Given the description of an element on the screen output the (x, y) to click on. 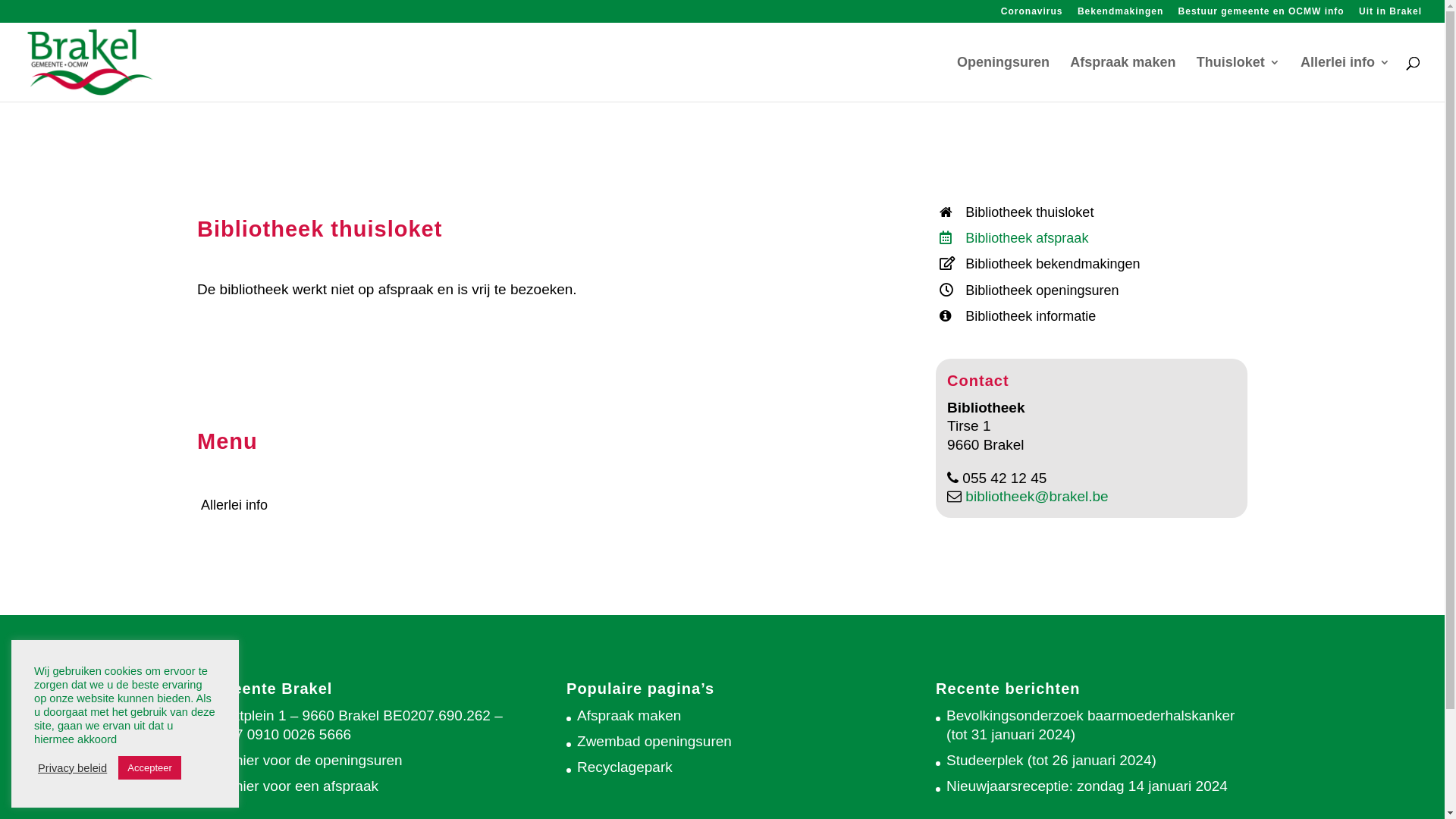
Bibliotheek informatie Element type: text (1091, 316)
Studeerplek (tot 26 januari 2024) Element type: text (1051, 760)
Bibliotheek bekendmakingen Element type: text (1091, 263)
Privacy beleid Element type: text (71, 768)
Allerlei info Element type: text (1345, 78)
Coronavirus Element type: text (1032, 14)
Thuisloket Element type: text (1238, 78)
Bibliotheek thuisloket Element type: text (1091, 212)
Klik hier voor de openingsuren Element type: text (304, 760)
Bestuur gemeente en OCMW info Element type: text (1261, 14)
Afspraak maken Element type: text (628, 715)
AANMELDEN
MIJN BURGERPROFIEL Element type: text (1258, 16)
Bibliotheek afspraak Element type: text (1091, 238)
Bibliotheek openingsuren Element type: text (1091, 290)
Nieuwjaarsreceptie: zondag 14 januari 2024 Element type: text (1086, 785)
Uit in Brakel Element type: text (1389, 14)
Openingsuren Element type: text (1003, 78)
Afspraak maken Element type: text (1122, 78)
Zwembad openingsuren Element type: text (654, 741)
Klik hier voor een afspraak Element type: text (292, 785)
Recyclagepark Element type: text (624, 767)
HULP NODIG Element type: text (1388, 16)
bibliotheek@brakel.be Element type: text (1034, 496)
Allerlei info Element type: text (537, 504)
Bekendmakingen Element type: text (1120, 14)
Accepteer Element type: text (149, 767)
